Given the description of an element on the screen output the (x, y) to click on. 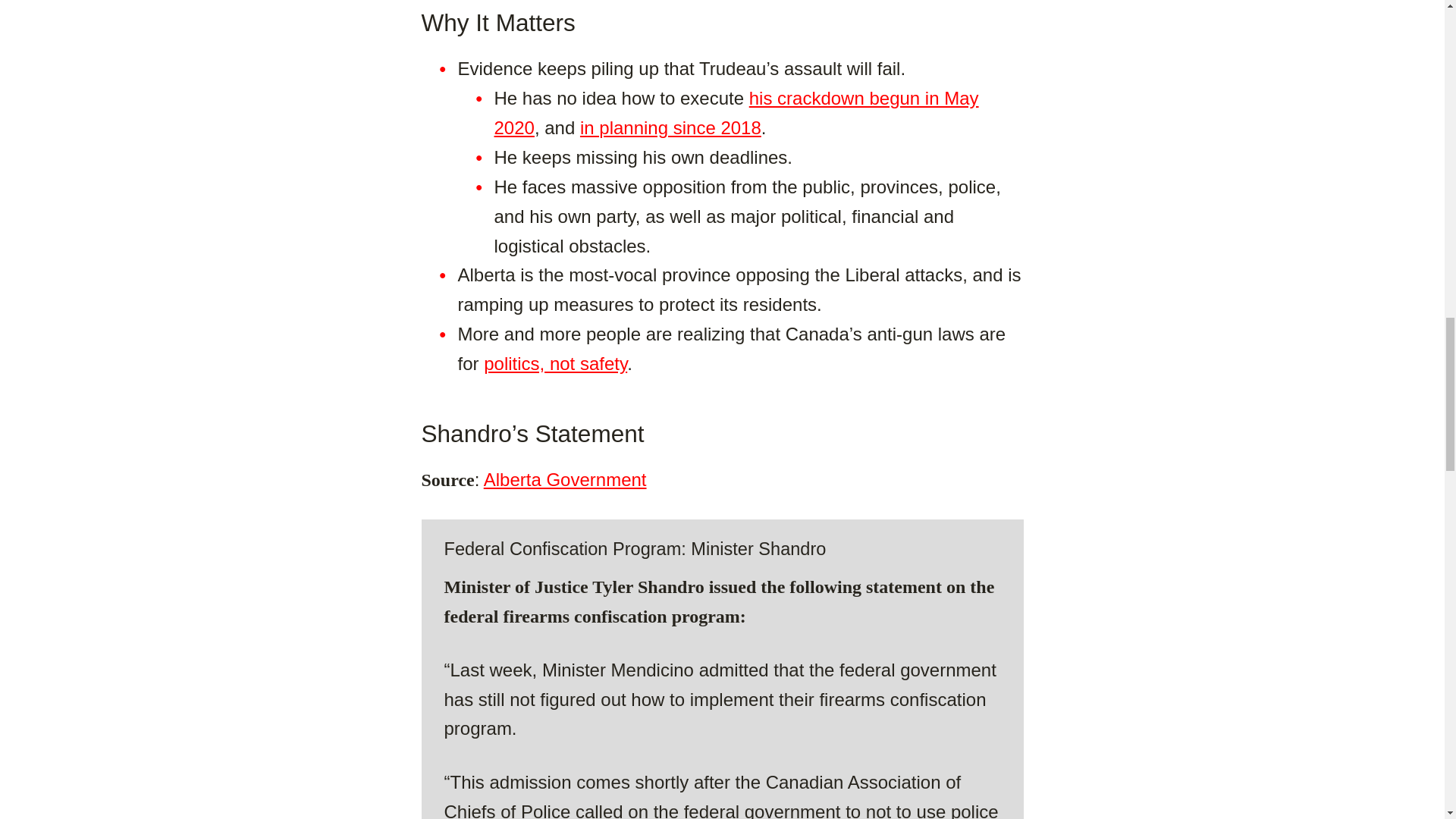
in planning since 2018 (670, 127)
politics, not safety (555, 362)
his crackdown begun in May 2020 (736, 112)
Alberta Government (564, 479)
